Given the description of an element on the screen output the (x, y) to click on. 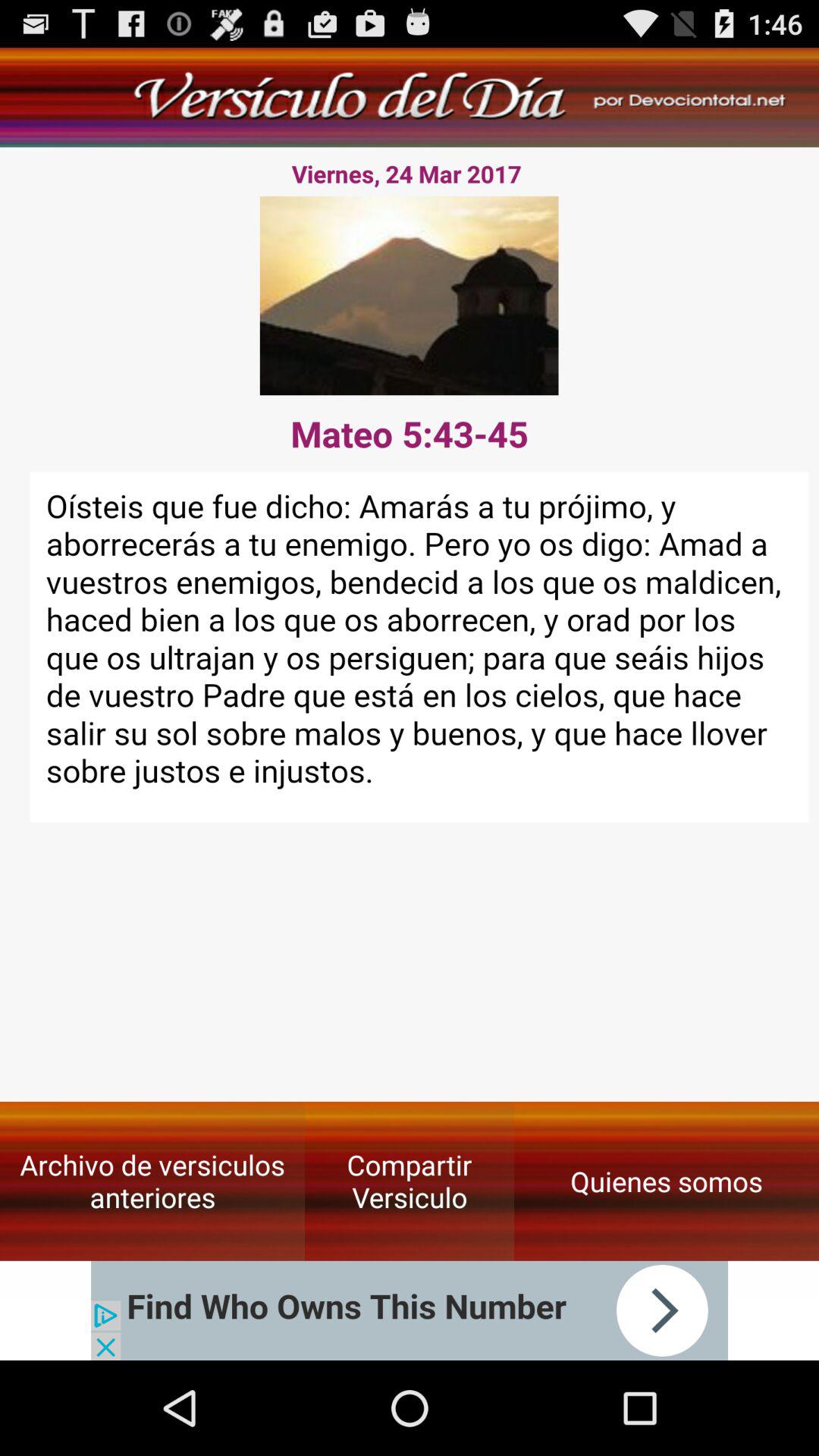
click advertisement (409, 1310)
